Given the description of an element on the screen output the (x, y) to click on. 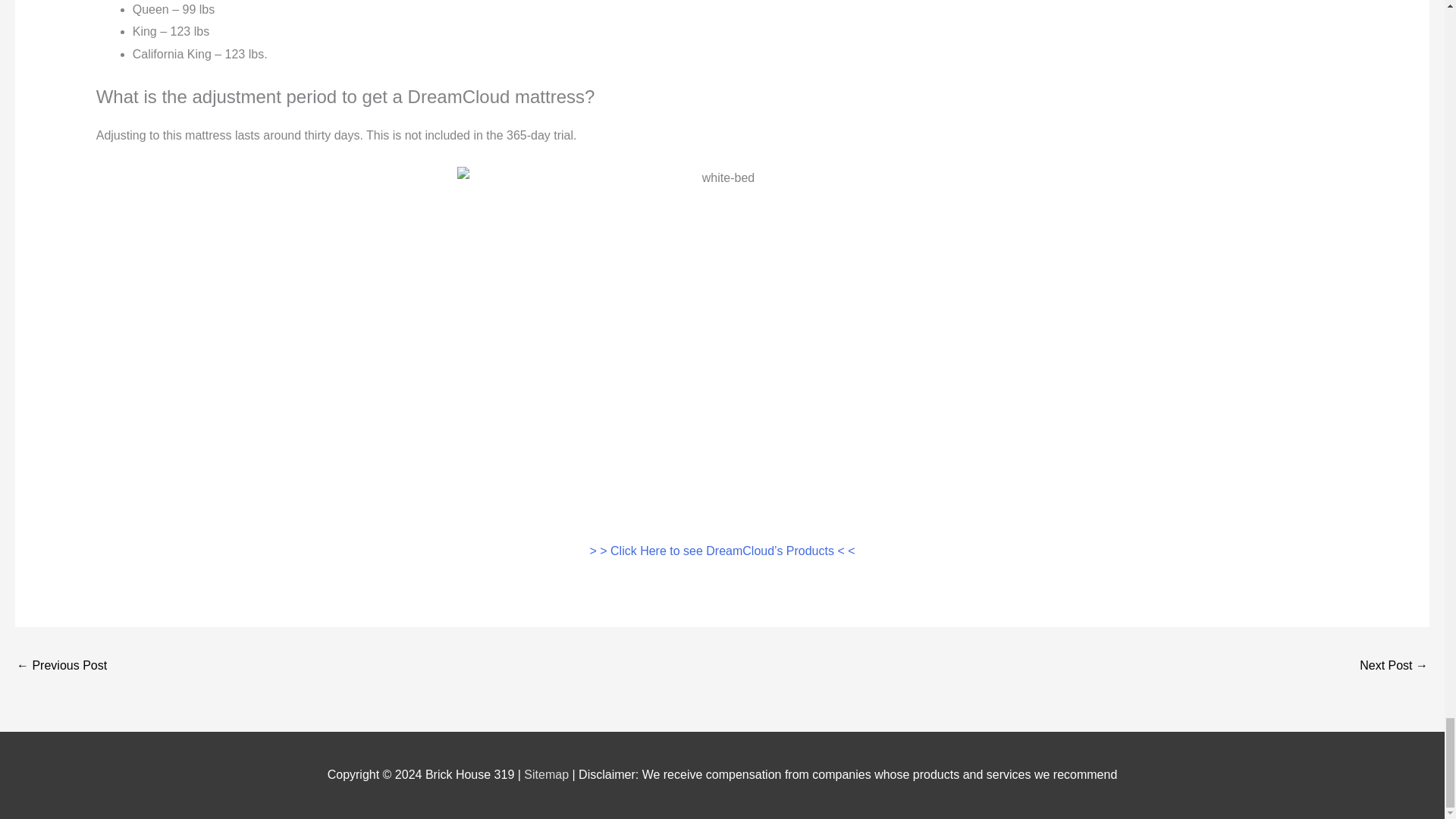
Sitemap (548, 774)
Queen Size Dreamcloud Mattress (61, 666)
How To Put On The Mattess Cover Dreamcloud (1393, 666)
